Given the description of an element on the screen output the (x, y) to click on. 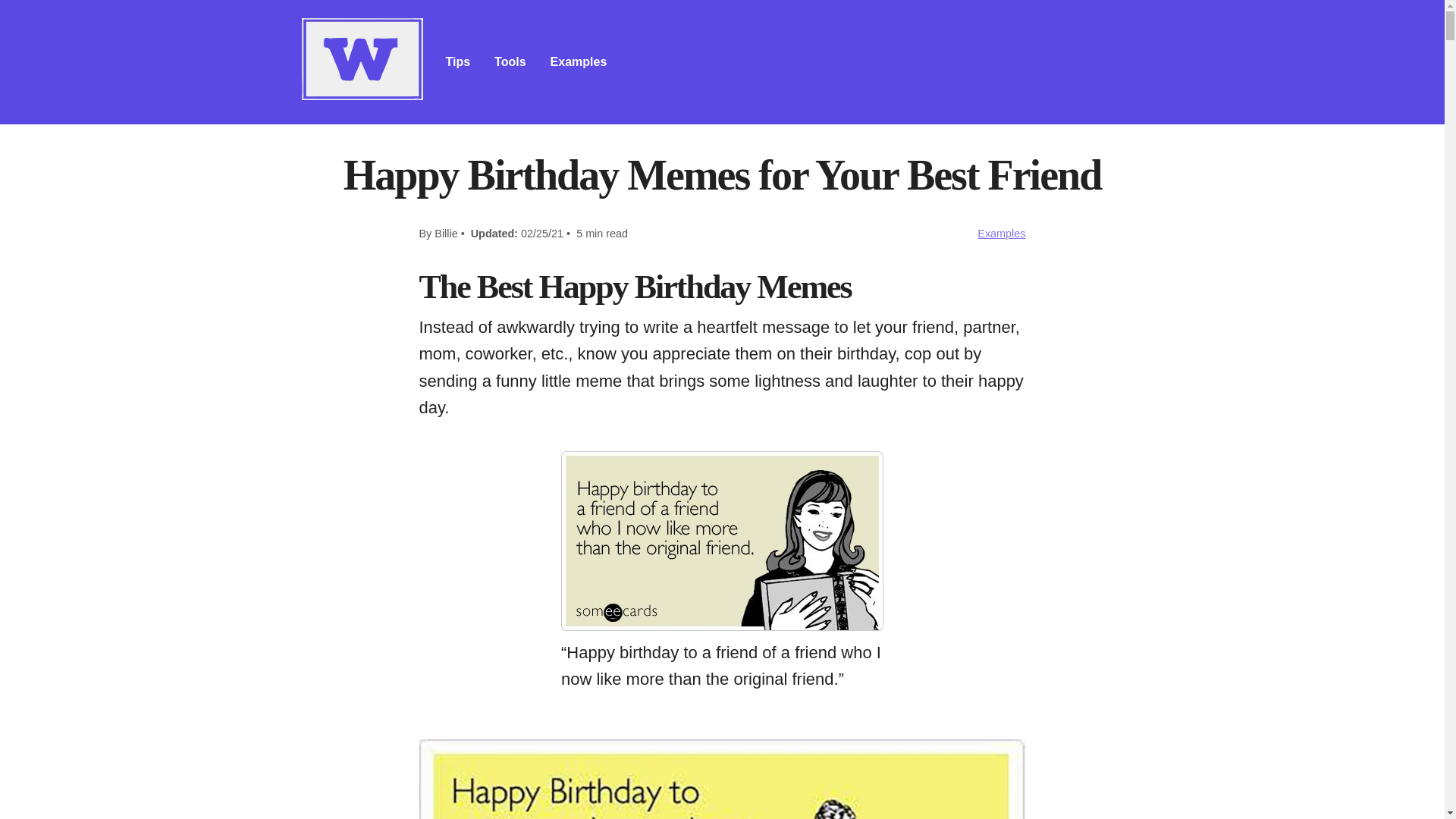
Tools (510, 62)
Tips (457, 62)
Example Wording (578, 62)
Examples (1000, 233)
Examples (578, 62)
